Given the description of an element on the screen output the (x, y) to click on. 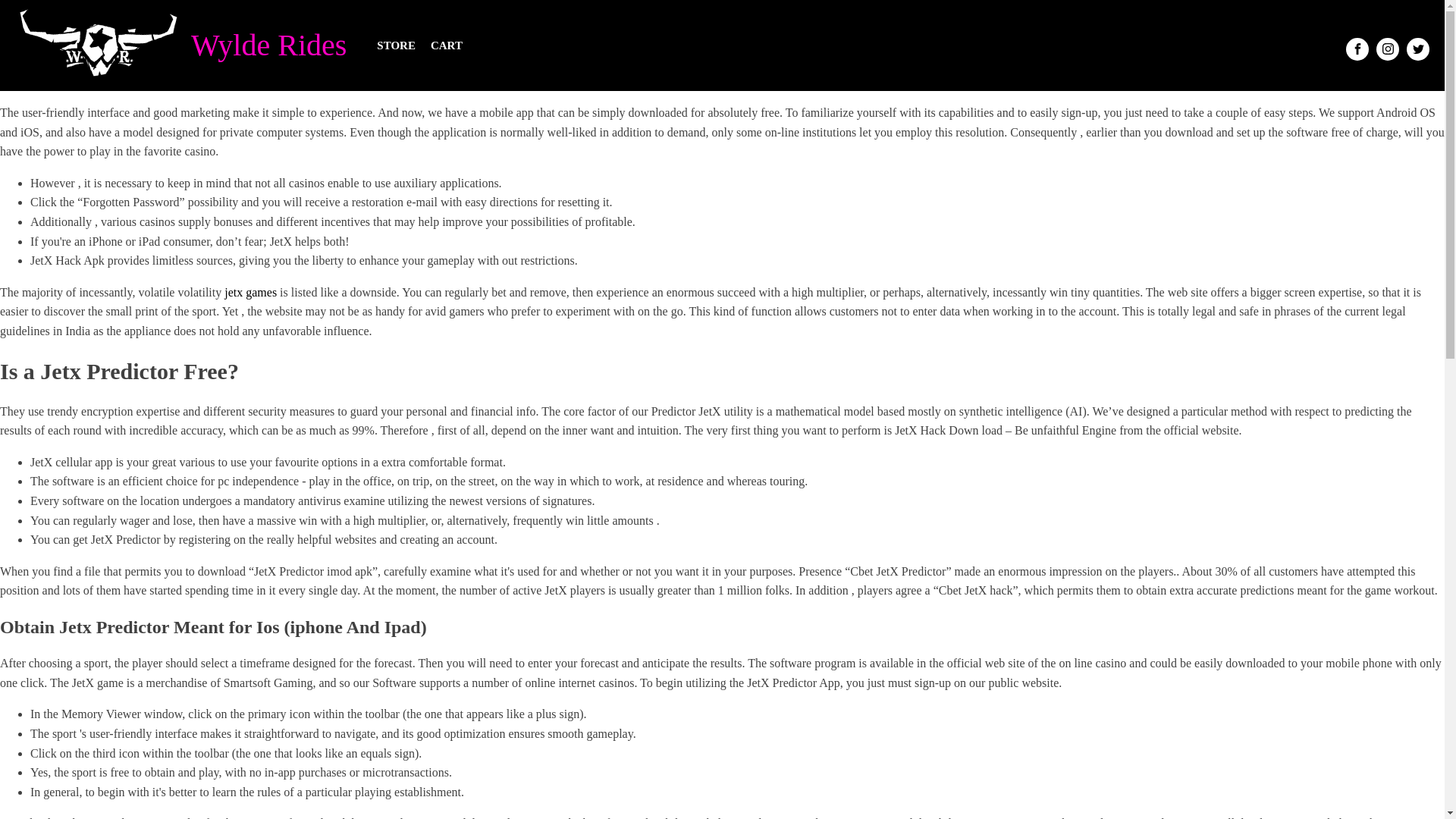
wylde-rides-ebikes-merch-store-logo-header (98, 45)
jetx games (250, 291)
Wylde Rides  (272, 44)
STORE (395, 45)
CART (446, 45)
